Given the description of an element on the screen output the (x, y) to click on. 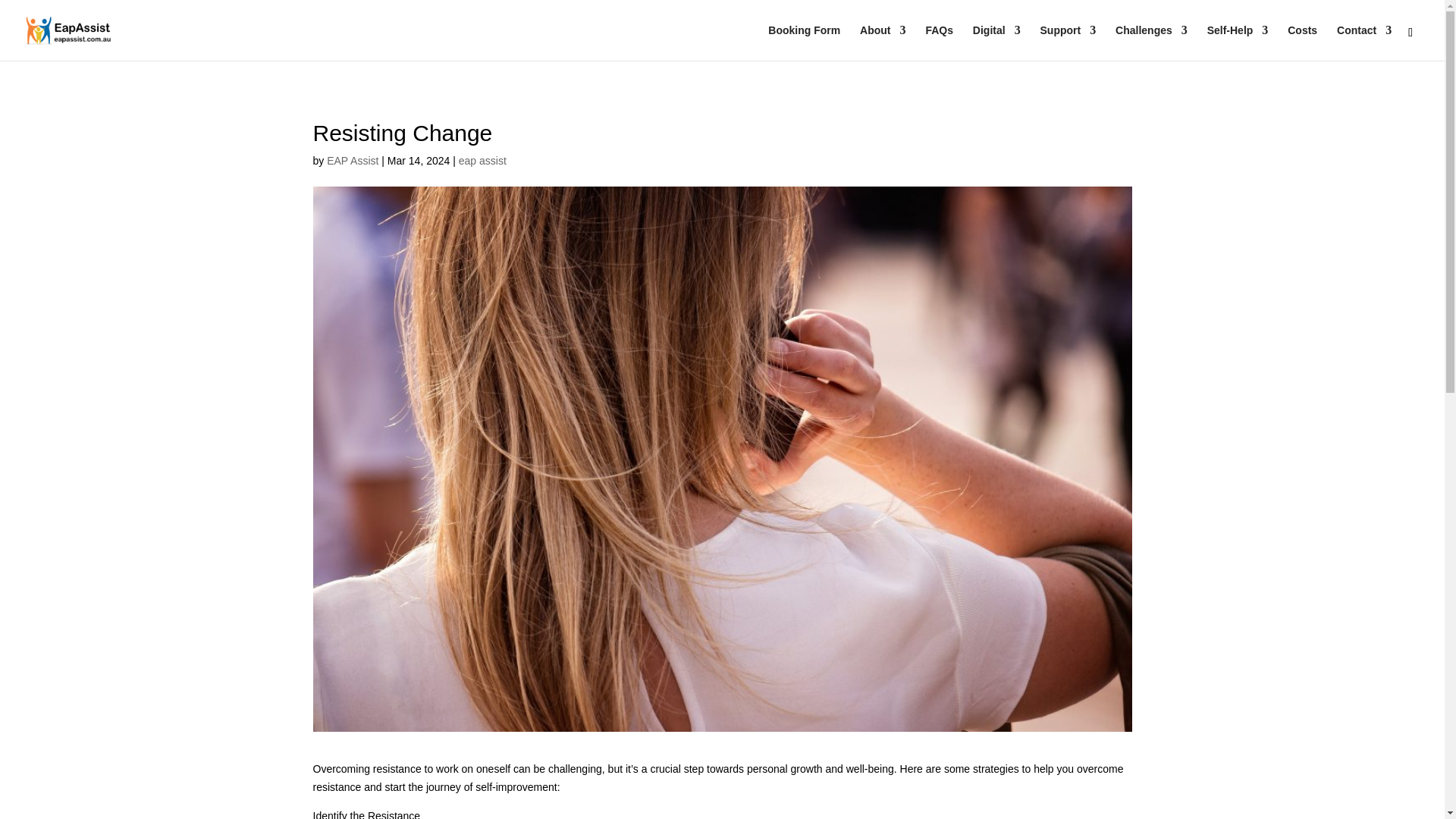
Challenges (1151, 42)
Booking Form (804, 42)
Posts by EAP Assist (352, 160)
About (882, 42)
Support (1068, 42)
Digital (996, 42)
